Given the description of an element on the screen output the (x, y) to click on. 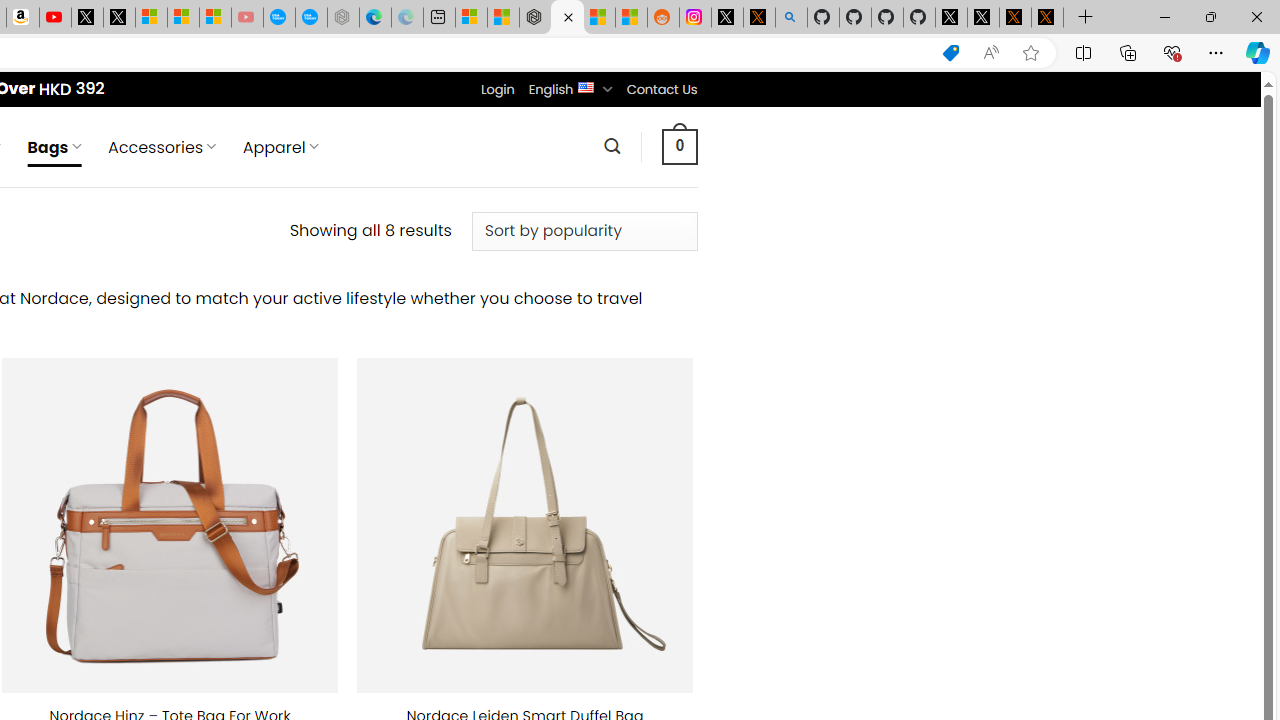
X Privacy Policy (1047, 17)
English (586, 86)
Shop order (584, 231)
Day 1: Arriving in Yemen (surreal to be here) - YouTube (54, 17)
Nordace - Duffels (566, 17)
help.x.com | 524: A timeout occurred (758, 17)
This site has coupons! Shopping in Microsoft Edge (950, 53)
